Given the description of an element on the screen output the (x, y) to click on. 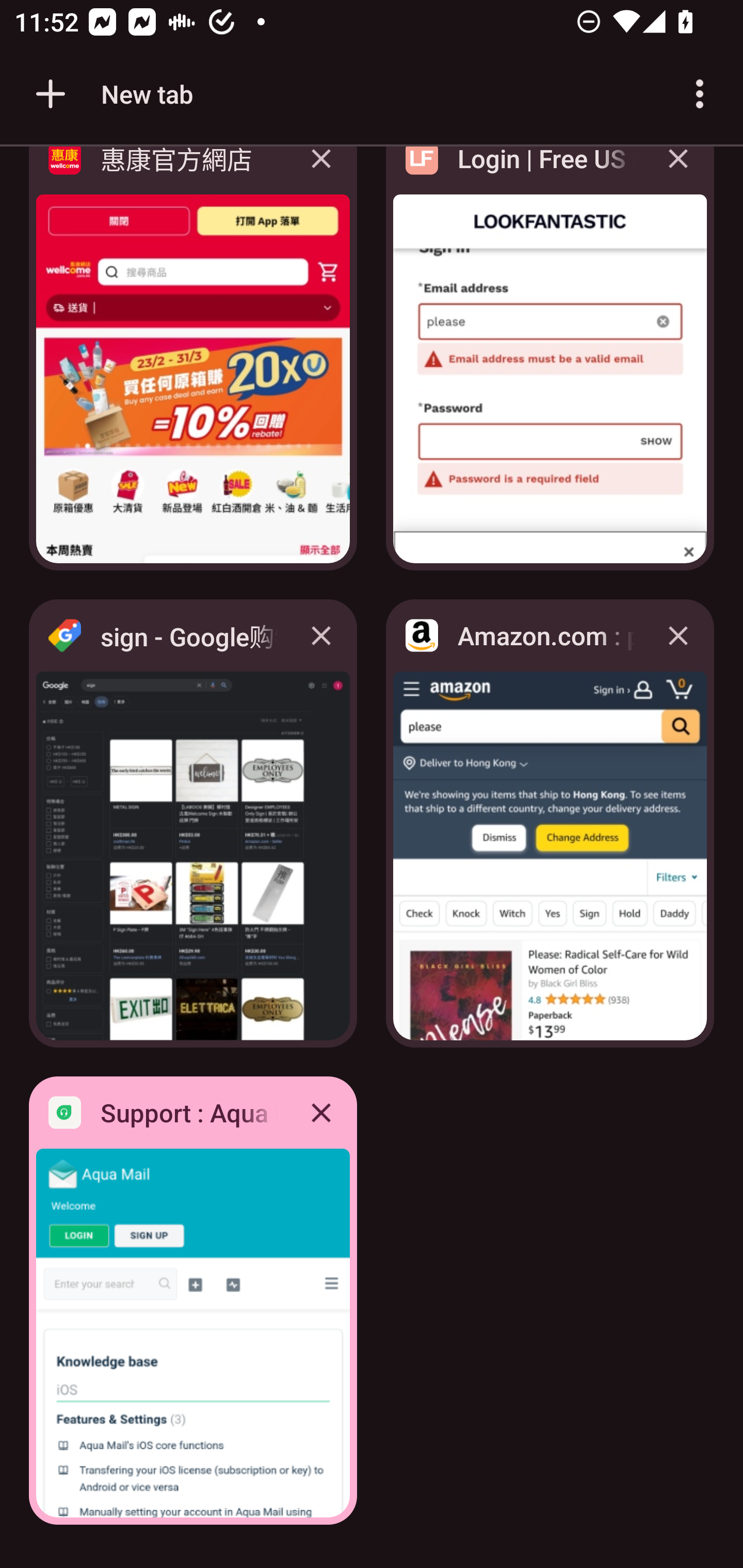
New tab (111, 93)
Customize and control Google Chrome (699, 93)
惠康官方網店 惠康官方網店, tab Close 惠康官方網店 tab (192, 364)
Close 惠康官方網店 tab (320, 173)
Close Login | Free US Shipping | lookfantastic tab (677, 173)
Close sign - Google购物 tab (320, 635)
Close Amazon.com : please tab (677, 635)
Close Support : Aqua Mail tab (320, 1112)
